Given the description of an element on the screen output the (x, y) to click on. 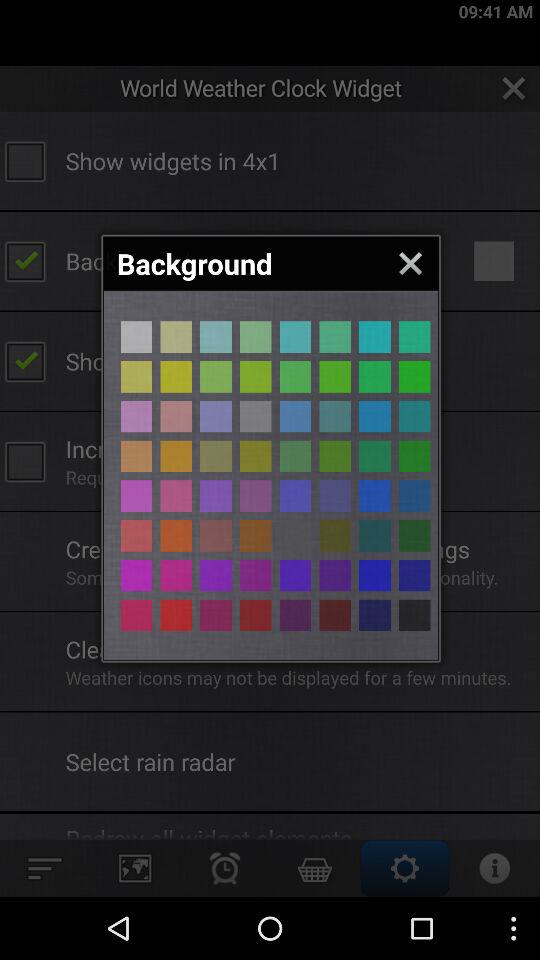
different colour page (295, 615)
